Given the description of an element on the screen output the (x, y) to click on. 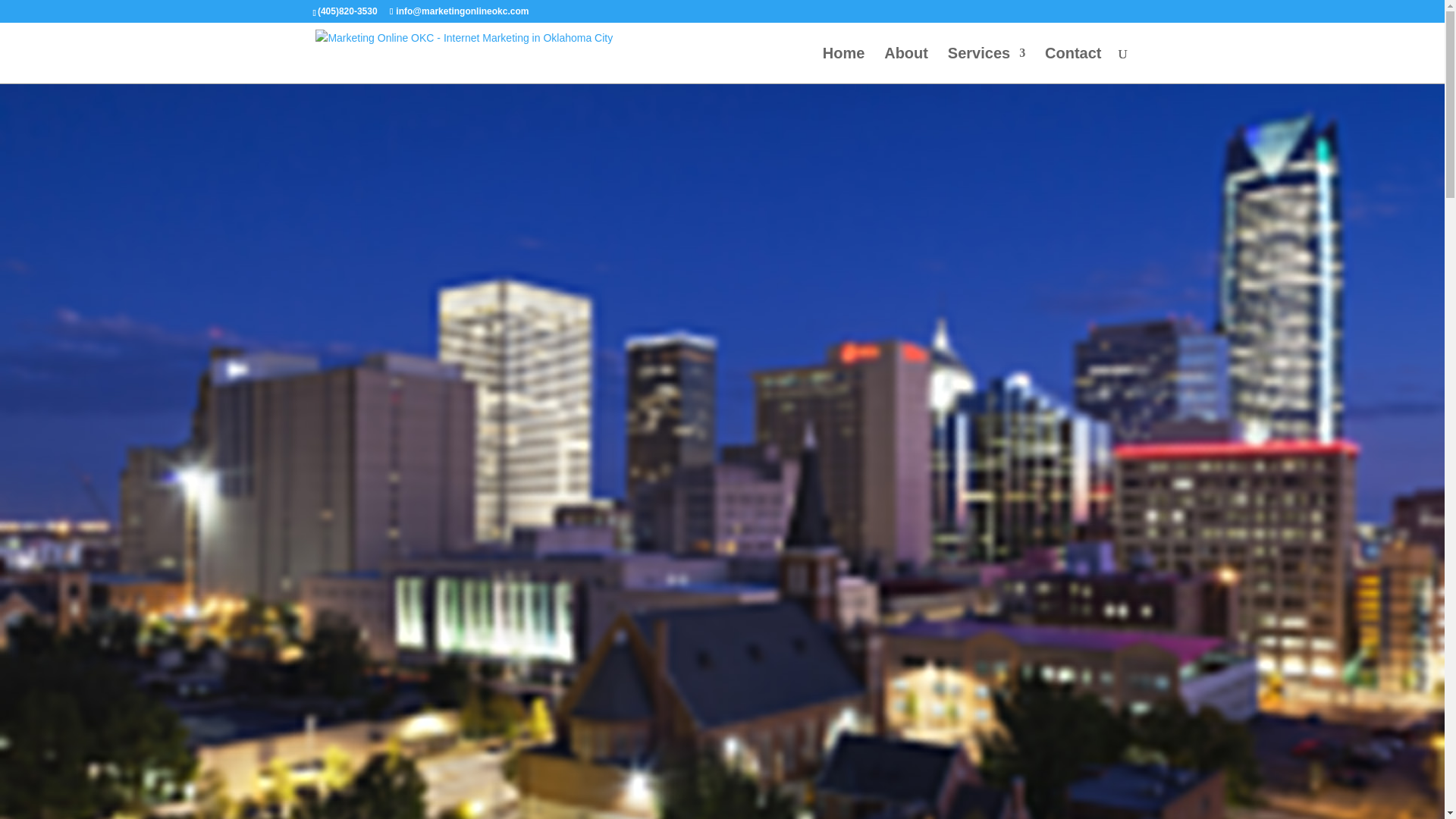
About (905, 65)
Home (843, 65)
Services (986, 65)
Contact (1072, 65)
